Given the description of an element on the screen output the (x, y) to click on. 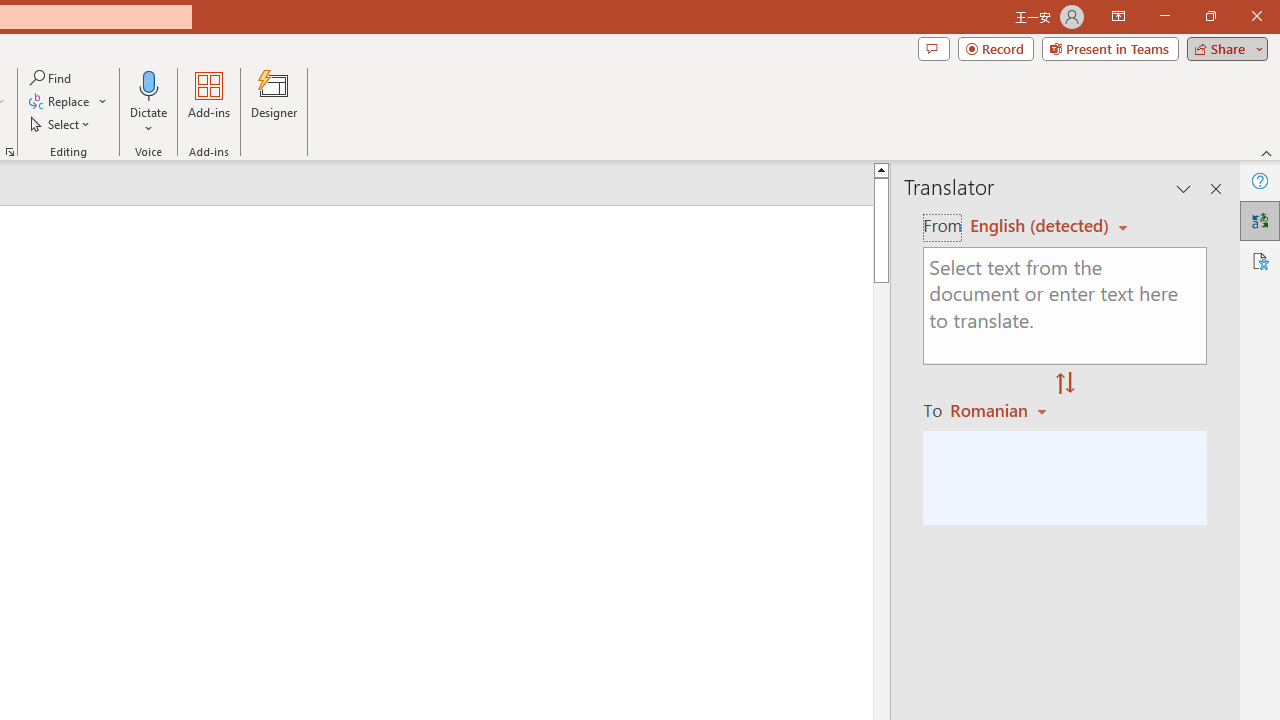
Select (61, 124)
